Given the description of an element on the screen output the (x, y) to click on. 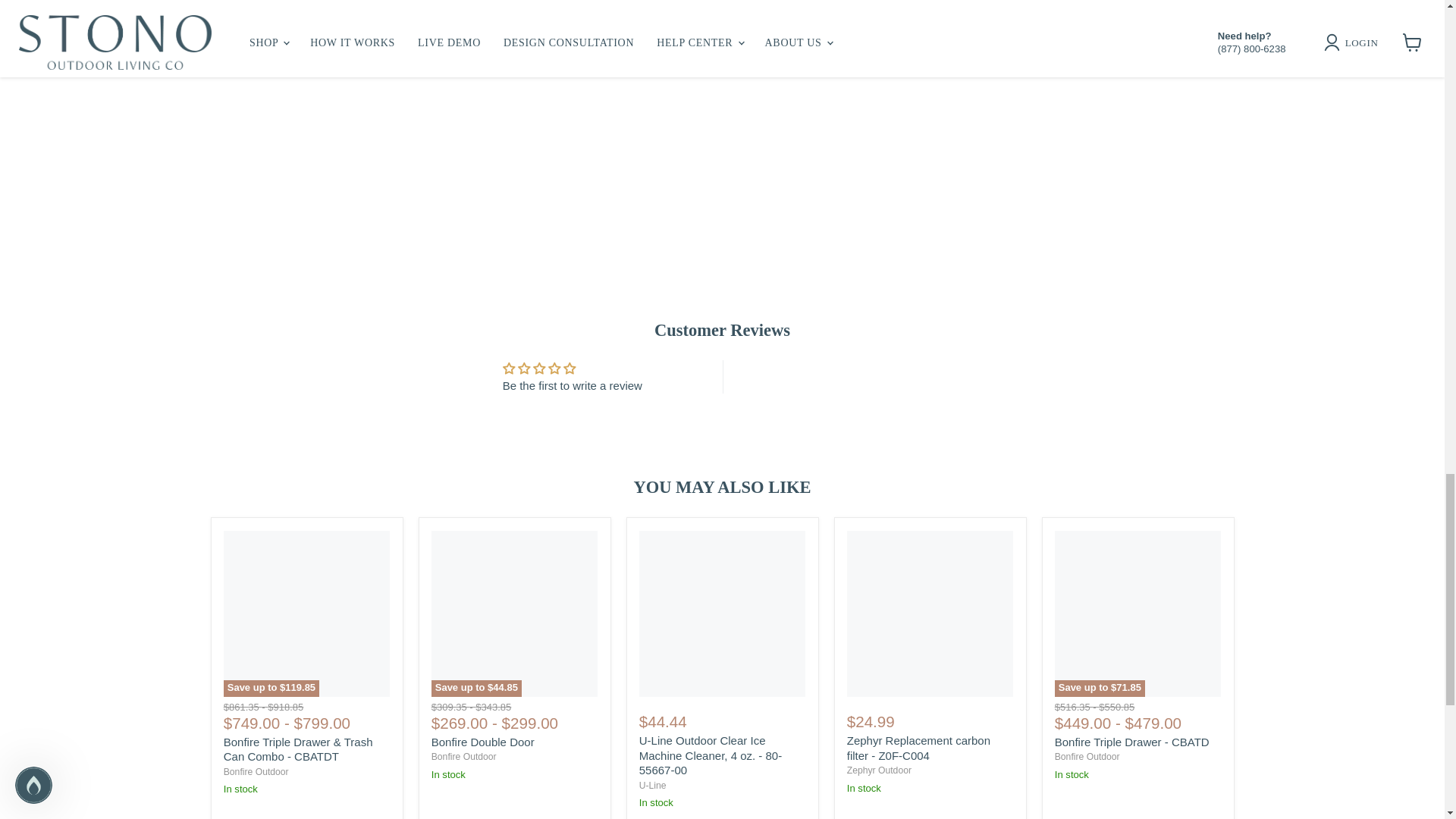
Bonfire Outdoor (463, 756)
Bonfire Outdoor (256, 771)
Zephyr Outdoor (879, 769)
Bonfire Outdoor (1086, 756)
U-Line (652, 785)
